Given the description of an element on the screen output the (x, y) to click on. 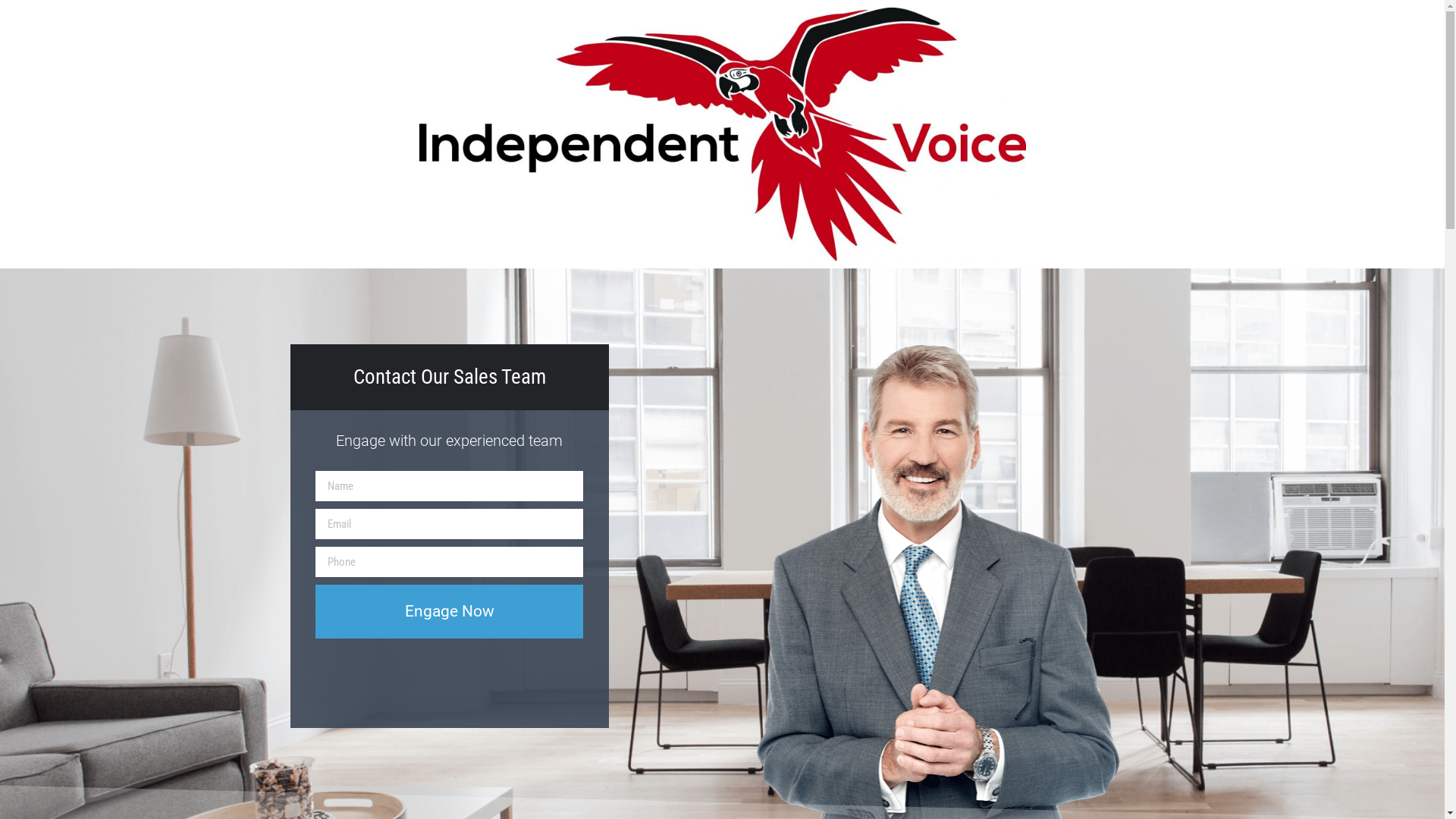
Engage Now Element type: text (449, 611)
